Given the description of an element on the screen output the (x, y) to click on. 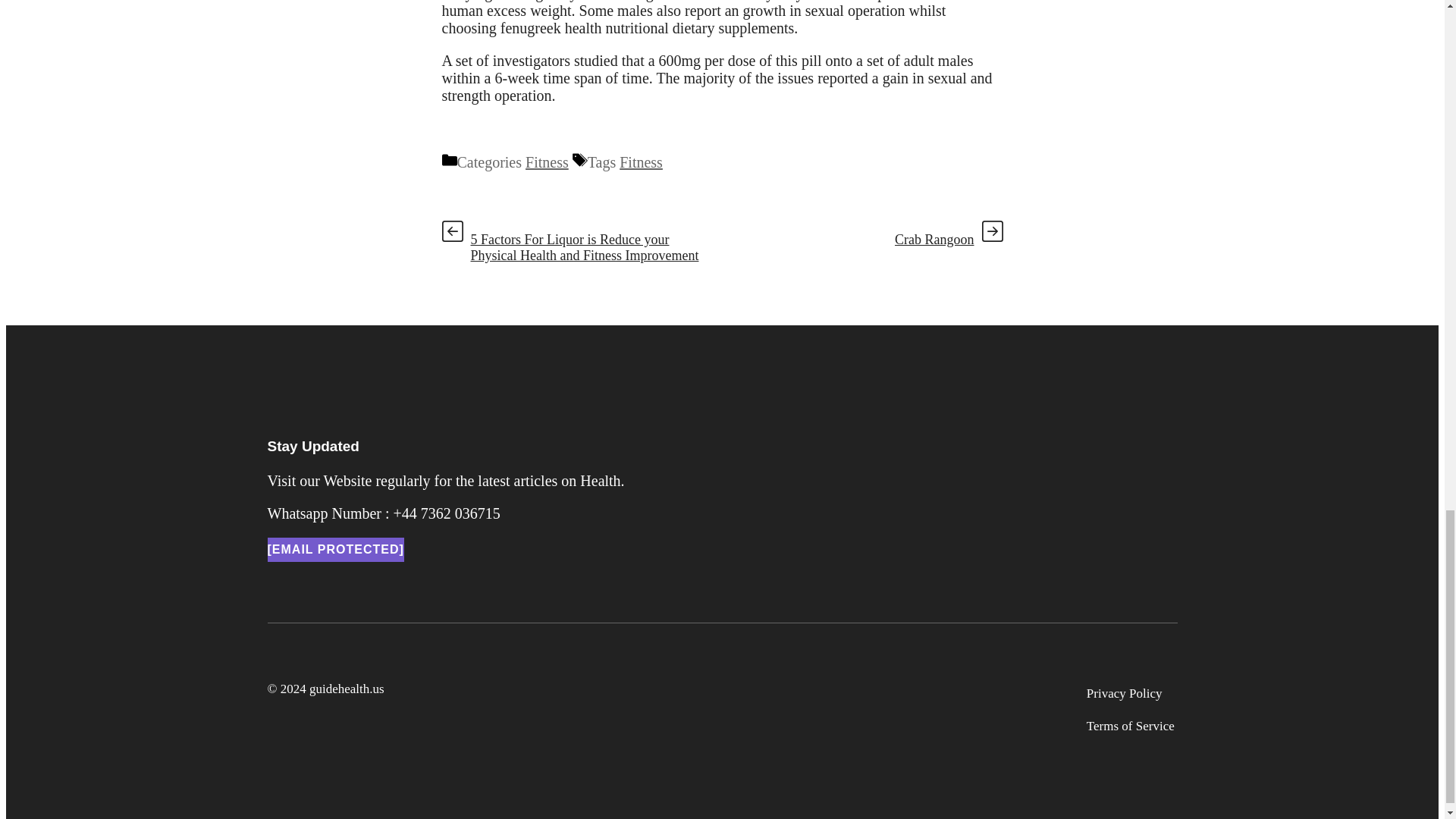
Fitness (547, 161)
Fitness (641, 161)
Privacy Policy (1123, 693)
Crab Rangoon (934, 239)
Terms of Service (1130, 726)
